Given the description of an element on the screen output the (x, y) to click on. 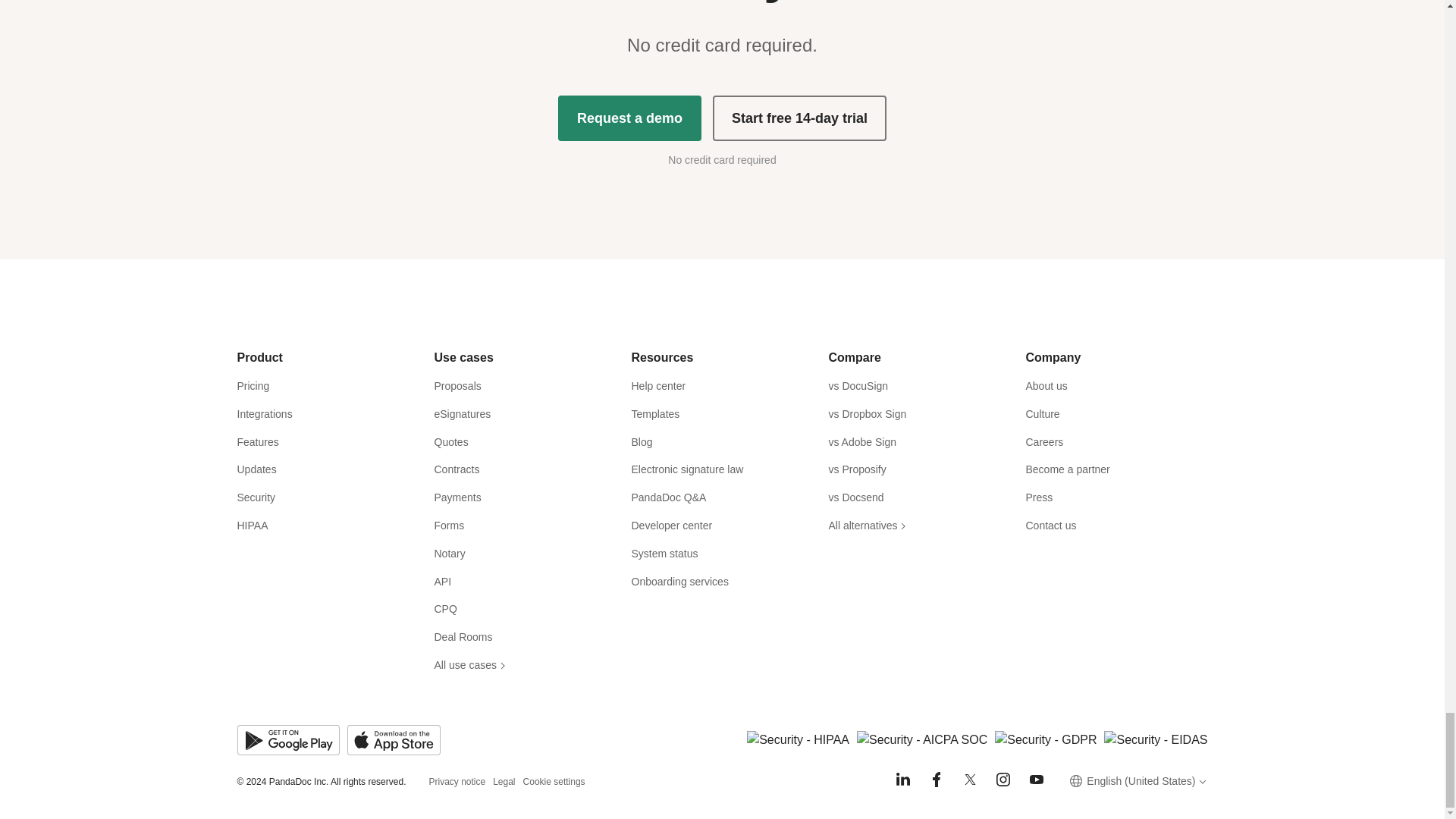
Facebook (935, 779)
Instagram (1002, 779)
Twitter (969, 779)
Youtube (1036, 779)
LinkedIn (902, 779)
